Given the description of an element on the screen output the (x, y) to click on. 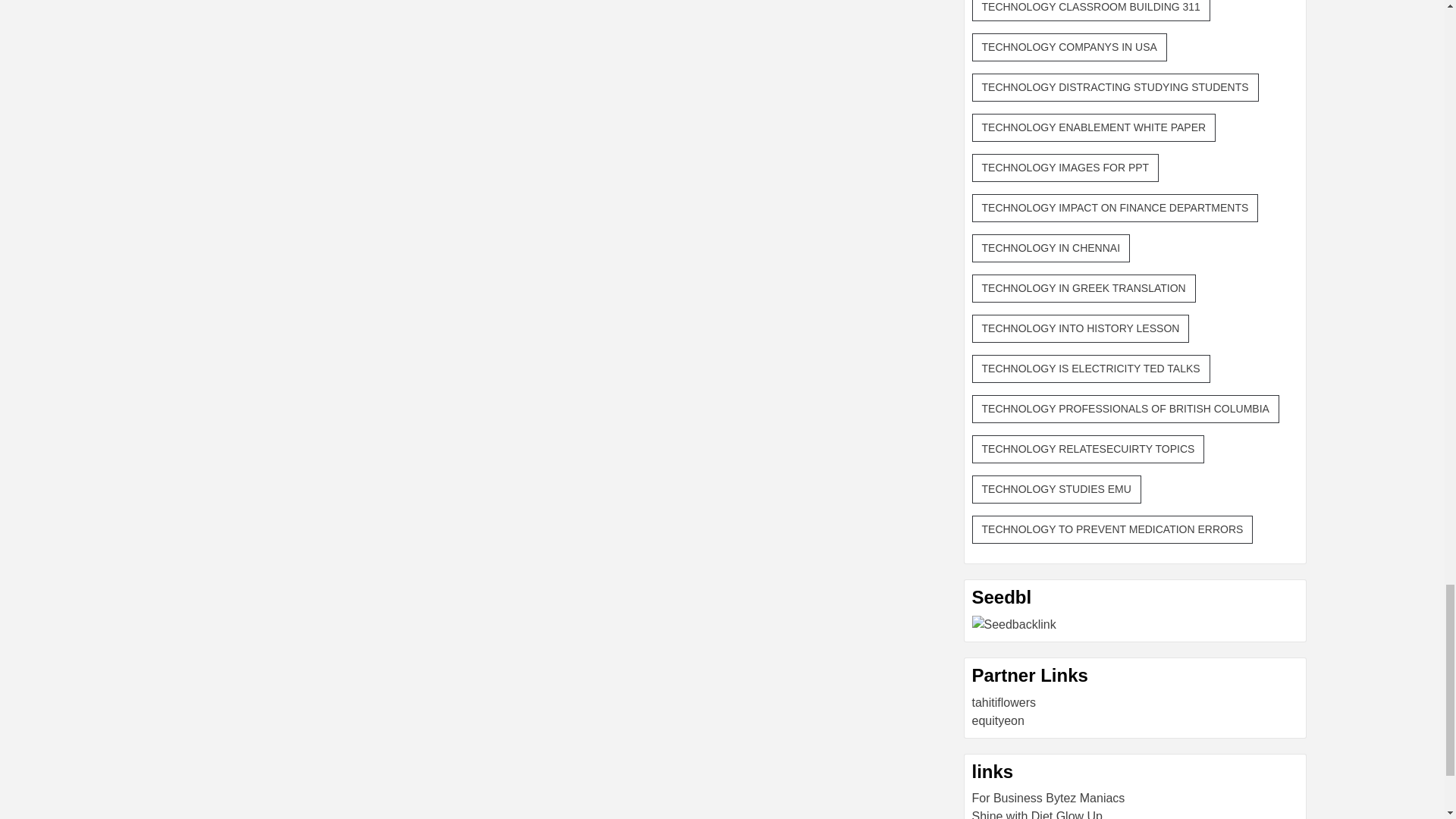
Seedbacklink (1014, 624)
